Given the description of an element on the screen output the (x, y) to click on. 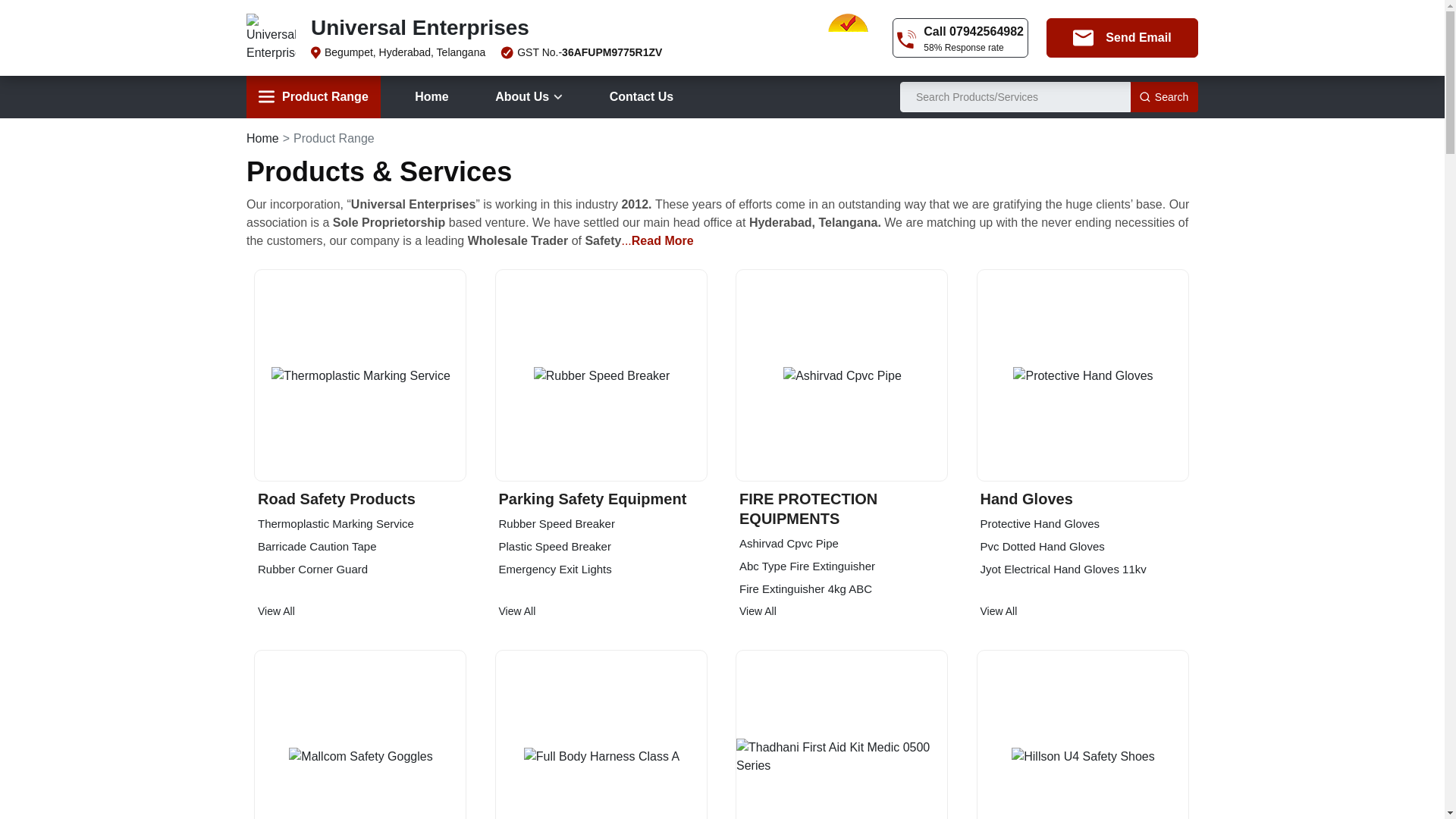
Home (431, 96)
Product Range (313, 96)
Send Email (1122, 37)
About Us (529, 96)
